Given the description of an element on the screen output the (x, y) to click on. 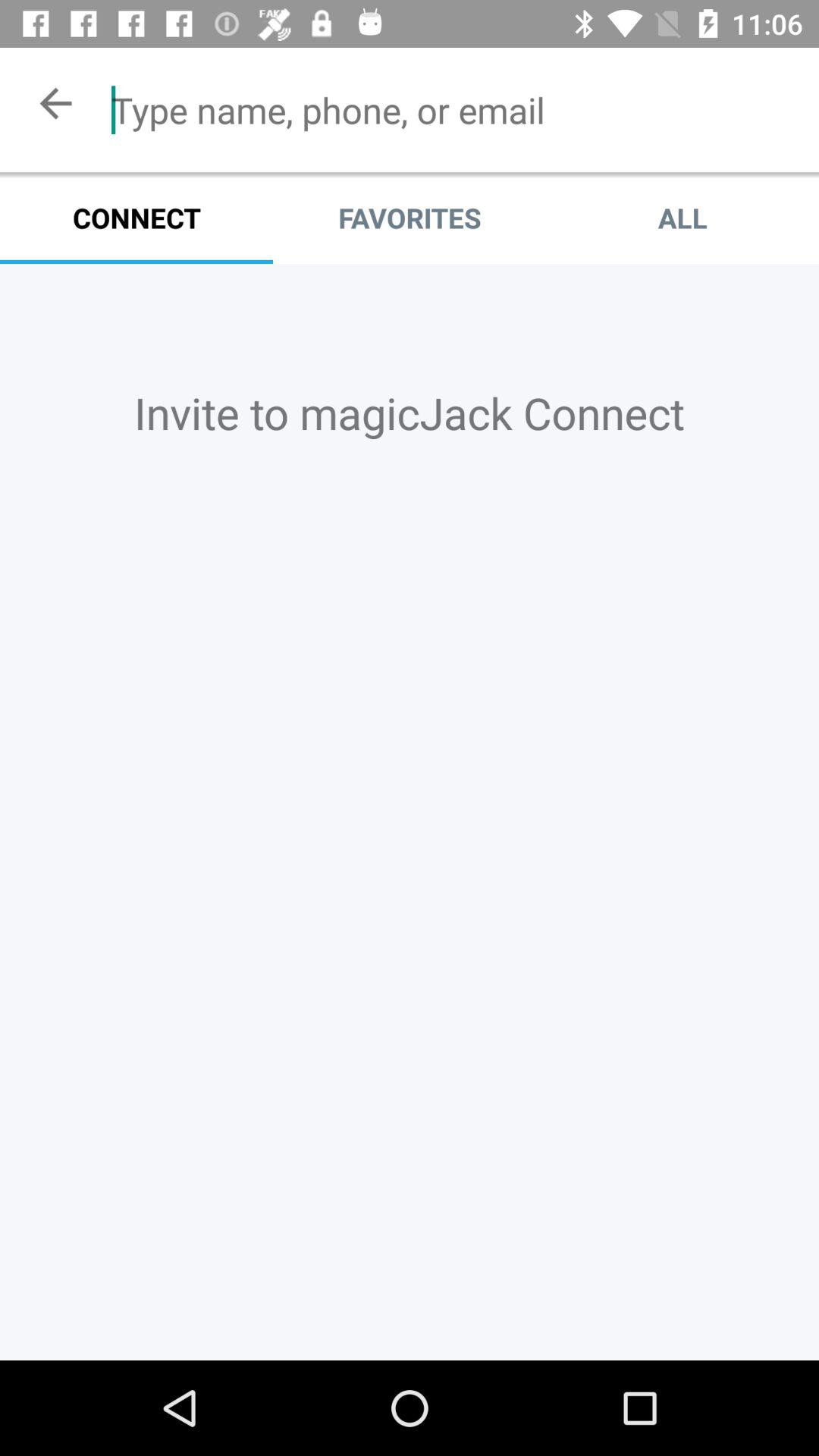
choose the favorites item (409, 217)
